Given the description of an element on the screen output the (x, y) to click on. 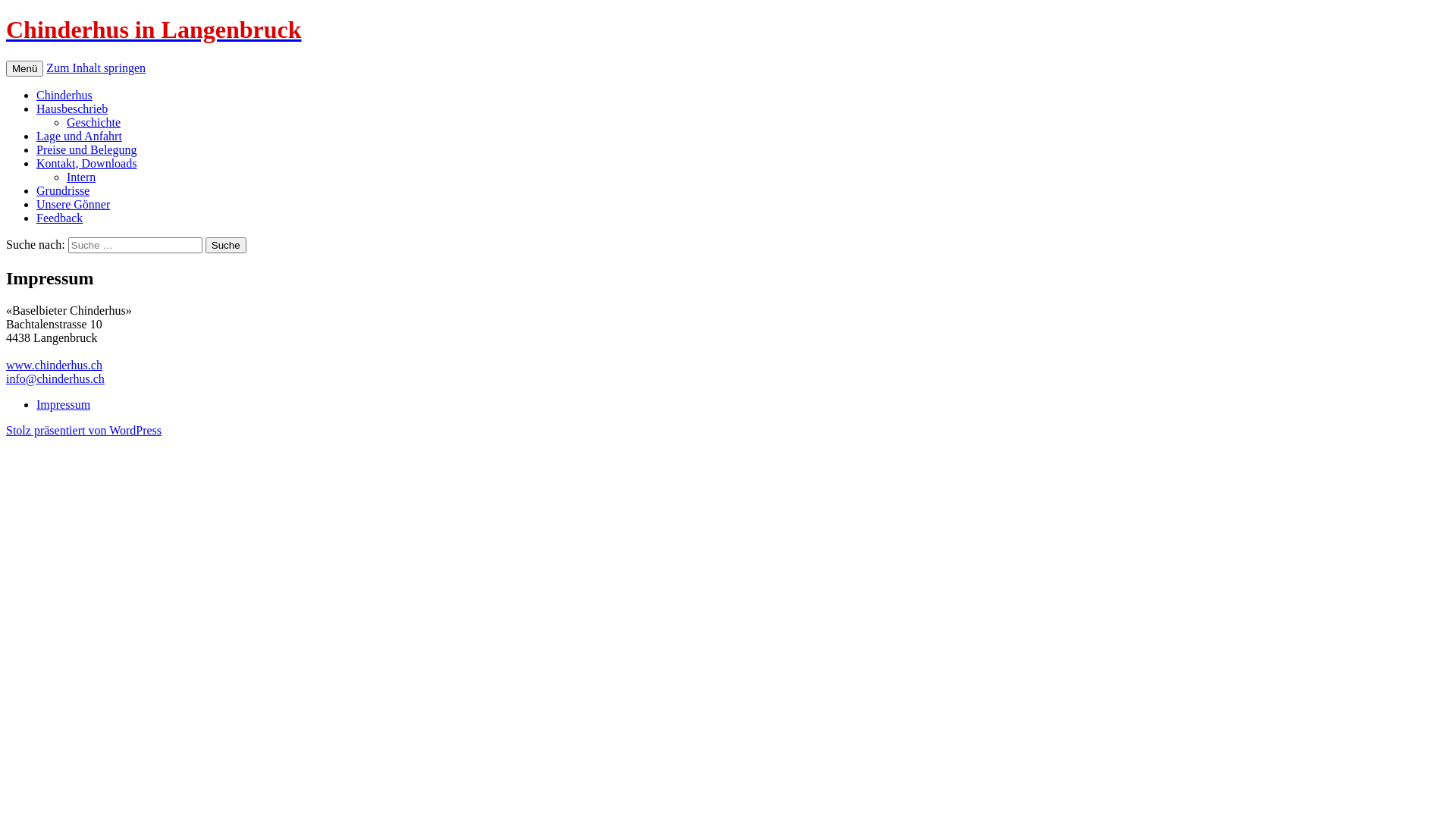
Grundrisse Element type: text (62, 190)
info@chinderhus.ch Element type: text (55, 378)
Impressum Element type: text (63, 404)
Hausbeschrieb Element type: text (71, 108)
Kontakt, Downloads Element type: text (86, 162)
Suche Element type: text (225, 245)
Chinderhus Element type: text (64, 94)
www.chinderhus.ch Element type: text (54, 364)
Preise und Belegung Element type: text (86, 149)
Zum Inhalt springen Element type: text (95, 67)
Feedback Element type: text (59, 217)
Geschichte Element type: text (93, 122)
Chinderhus in Langenbruck Element type: text (727, 29)
Lage und Anfahrt Element type: text (79, 135)
Intern Element type: text (80, 176)
